Given the description of an element on the screen output the (x, y) to click on. 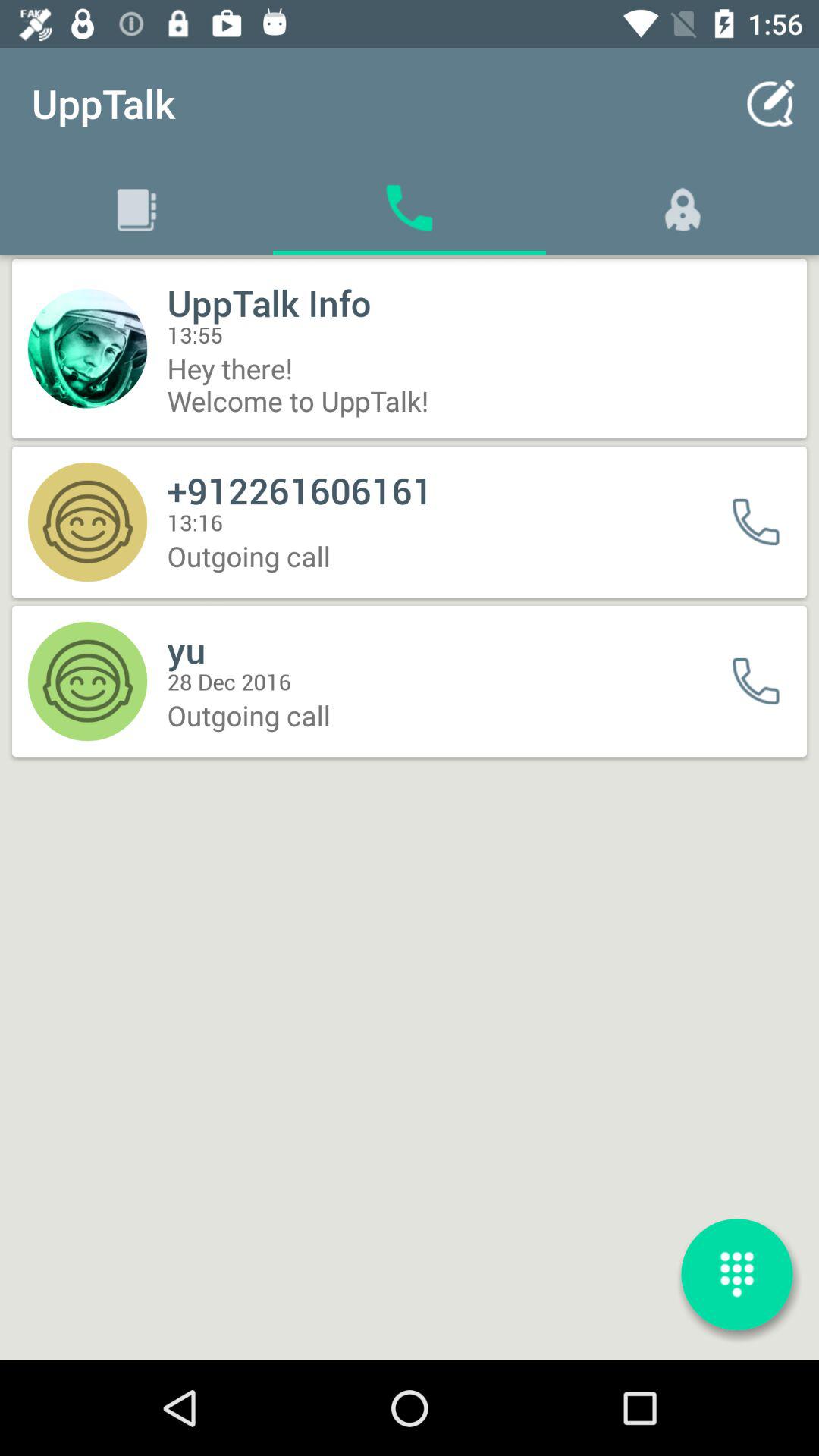
call this phone number (765, 521)
